Given the description of an element on the screen output the (x, y) to click on. 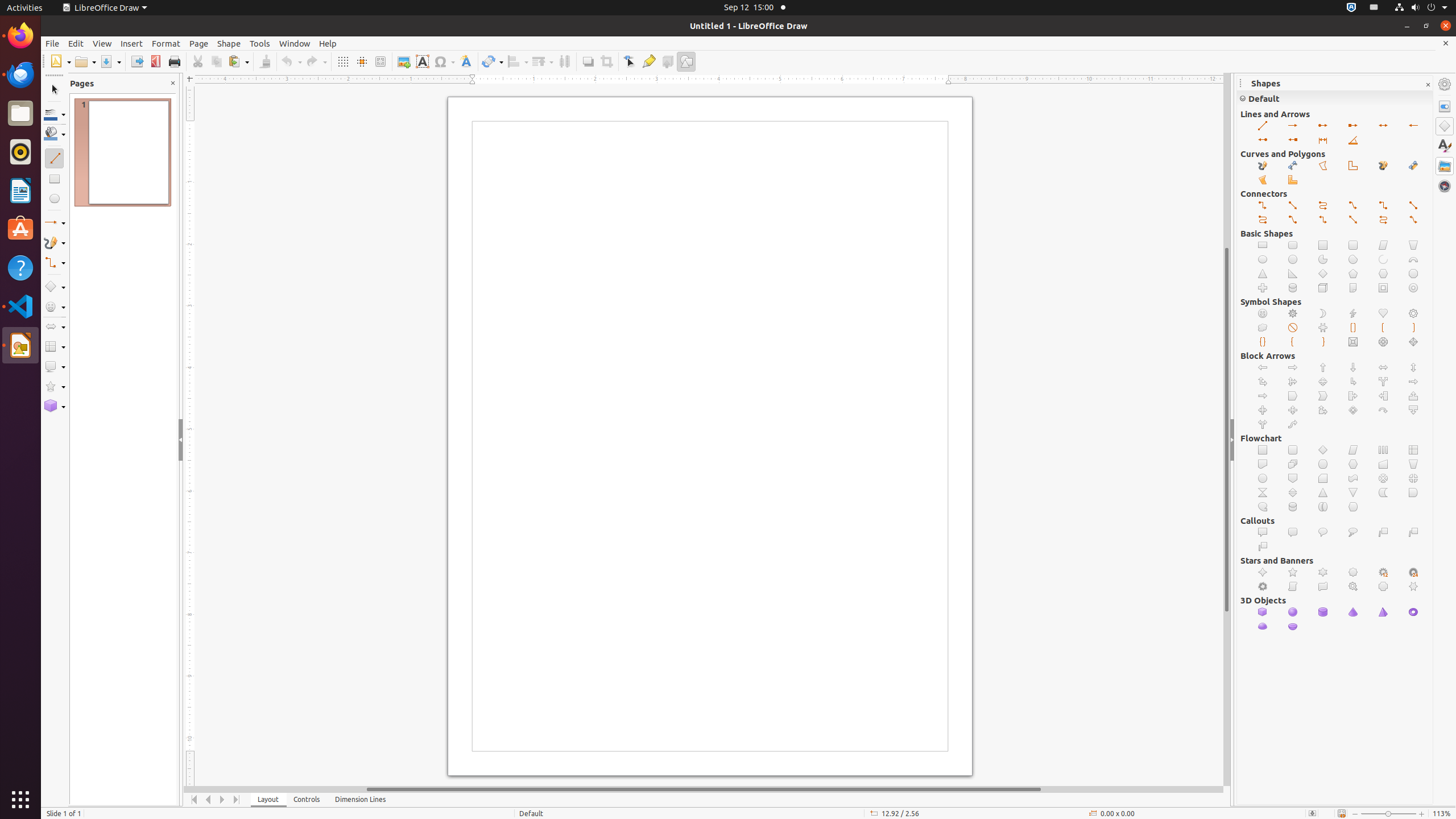
:1.21/StatusNotifierItem Element type: menu (1373, 7)
Clone Element type: push-button (264, 61)
Up and Down Arrow Callout Element type: list-item (1292, 410)
Right Triangle Element type: list-item (1292, 273)
Horizontal Ruler Element type: ruler (703, 79)
